Given the description of an element on the screen output the (x, y) to click on. 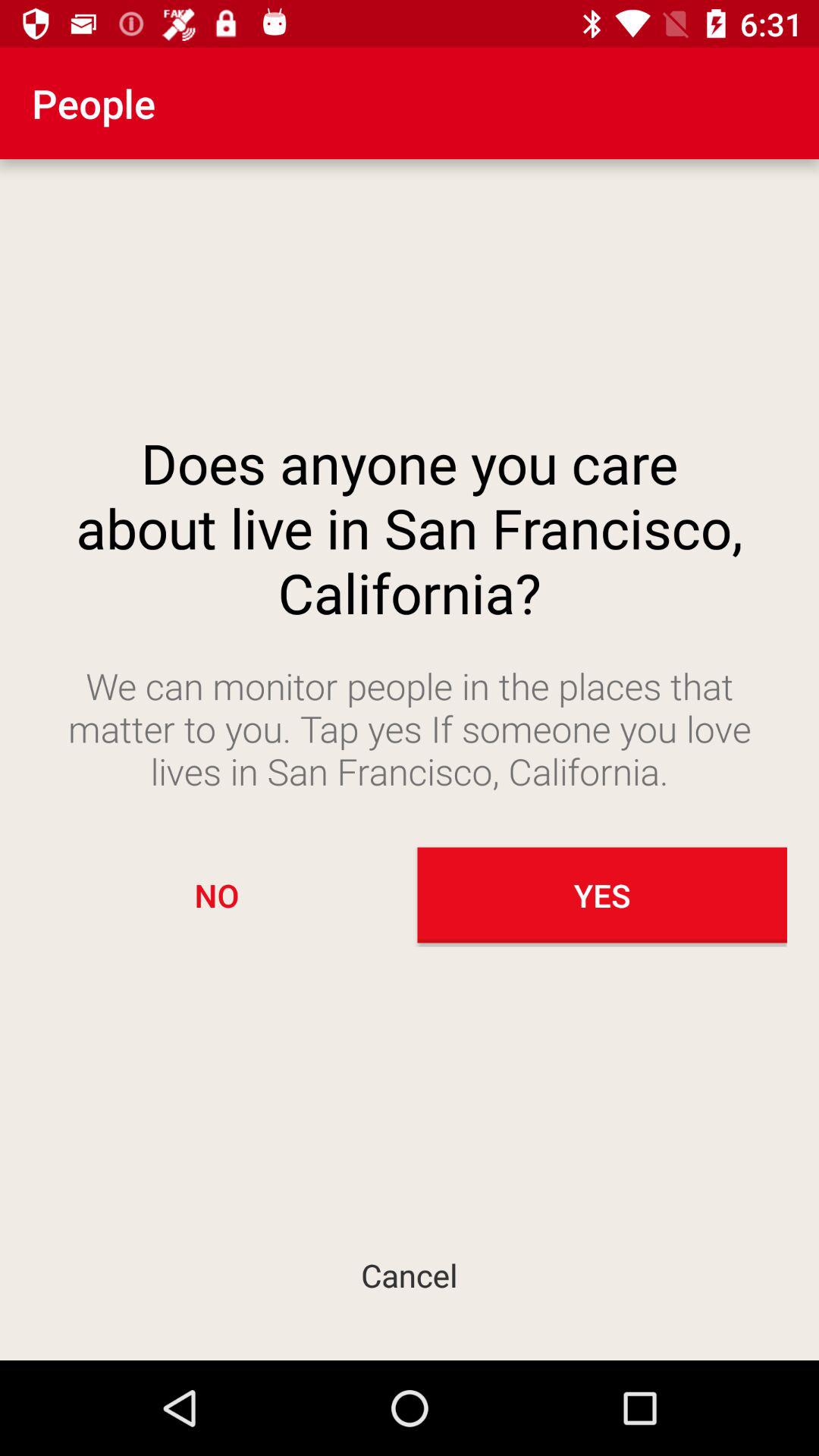
scroll until cancel (409, 1274)
